Given the description of an element on the screen output the (x, y) to click on. 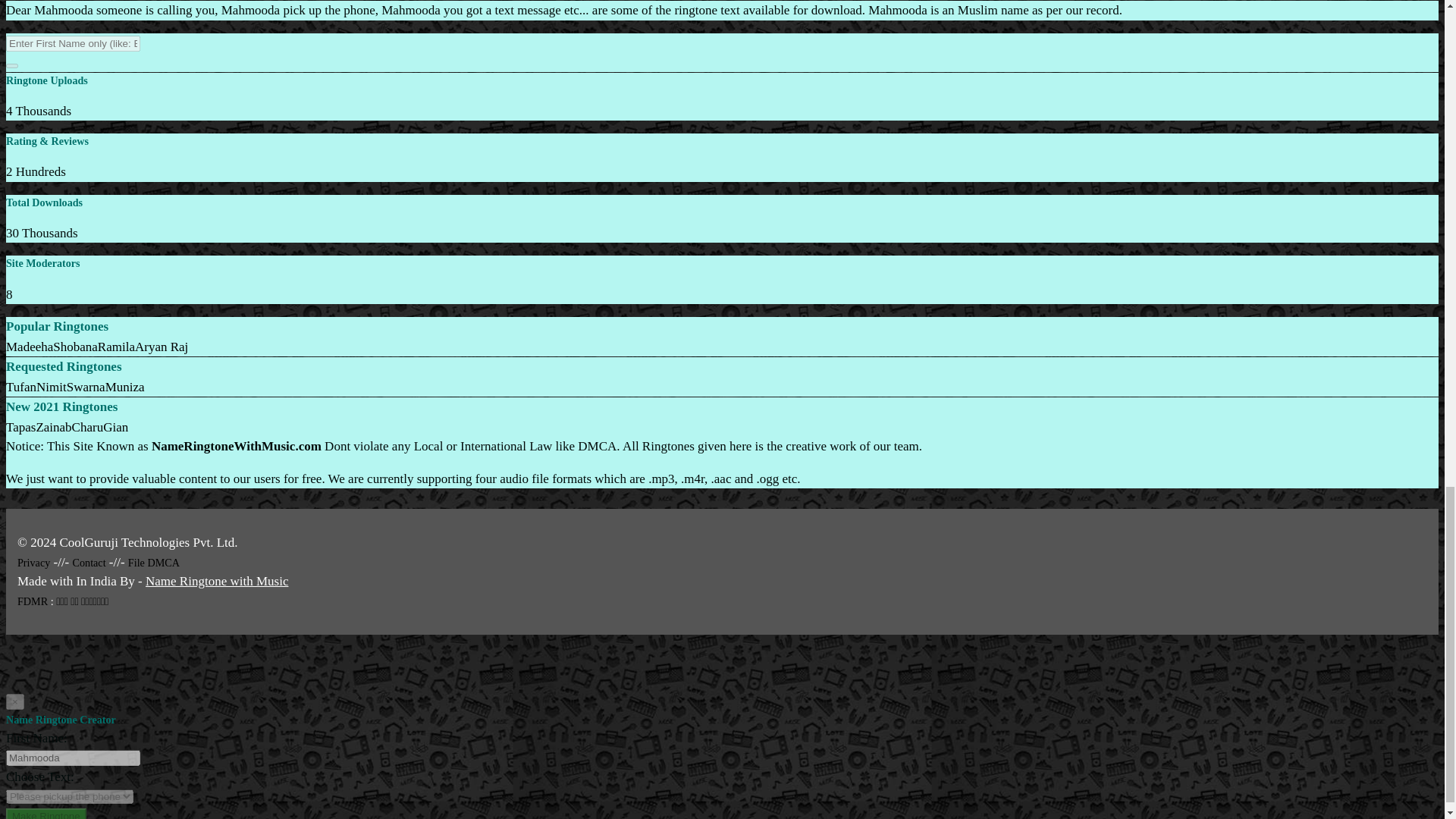
charu name ringtone with music (87, 427)
muniza name ringtone with music (124, 386)
tapas name ringtone with music (19, 427)
madeeha name ringtone with music (28, 346)
Mahmooda (72, 757)
ramila name ringtone with music (116, 346)
aryan raj name ringtone with music (161, 346)
swarna name ringtone with music (85, 386)
shobana name ringtone with music (74, 346)
tufan name ringtone with music (20, 386)
zainab name ringtone with music (52, 427)
Shobana (74, 346)
Madeeha (28, 346)
nimit name ringtone with music (51, 386)
gian name ringtone with music (115, 427)
